Given the description of an element on the screen output the (x, y) to click on. 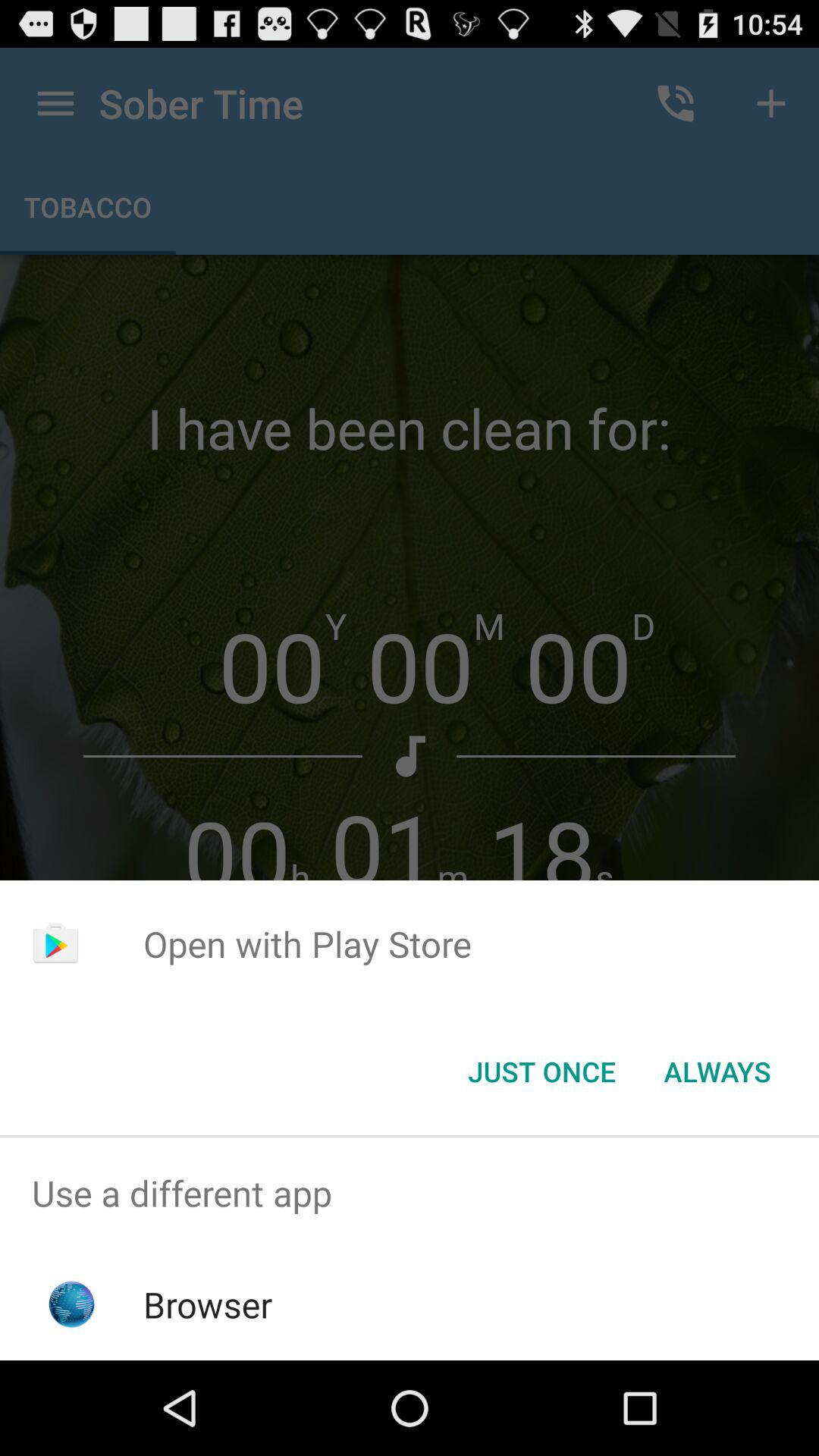
flip until the just once button (541, 1071)
